Given the description of an element on the screen output the (x, y) to click on. 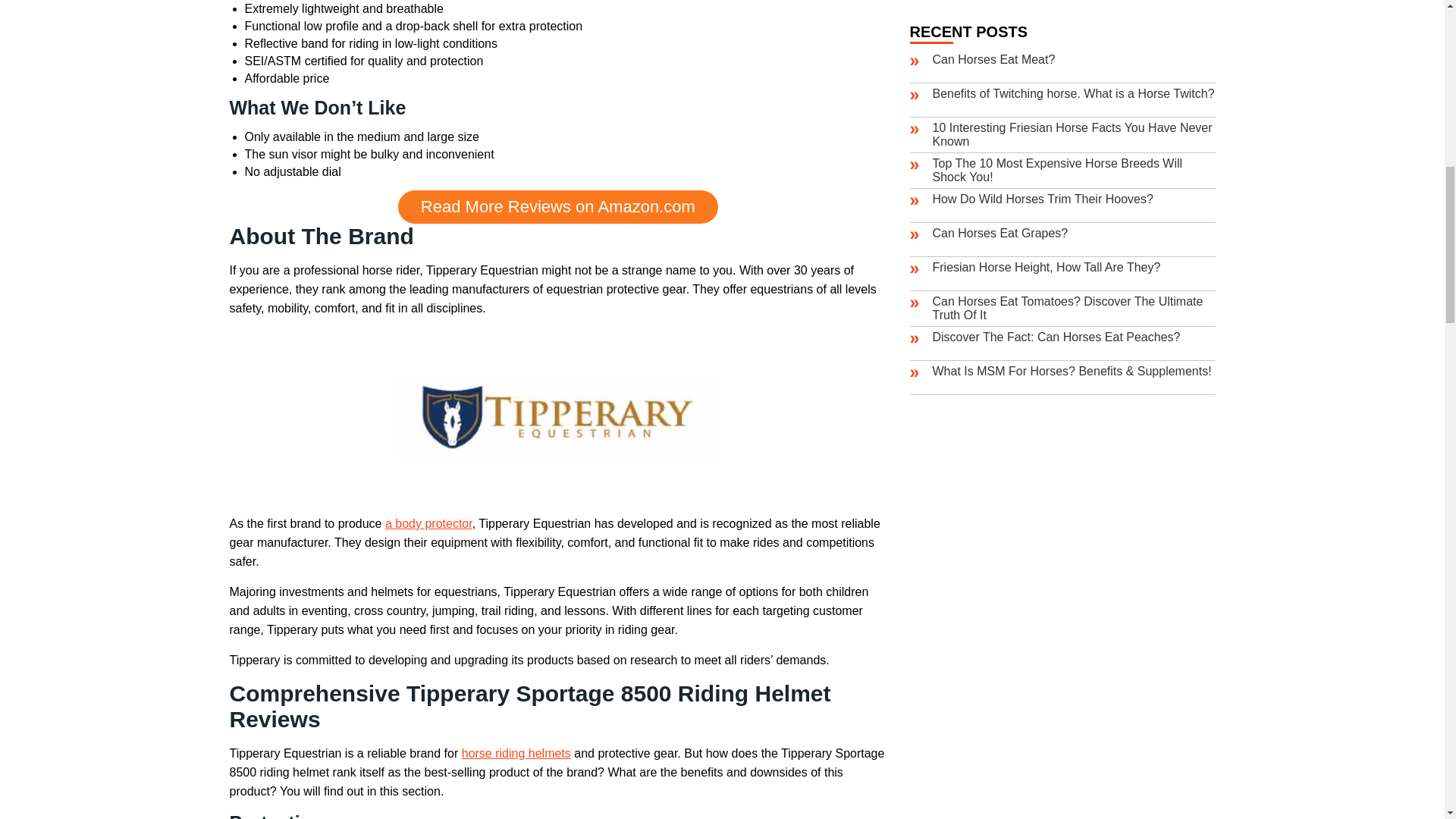
a body protector (428, 522)
horse riding helmets (515, 753)
Read More Reviews on Amazon.com (557, 206)
